Given the description of an element on the screen output the (x, y) to click on. 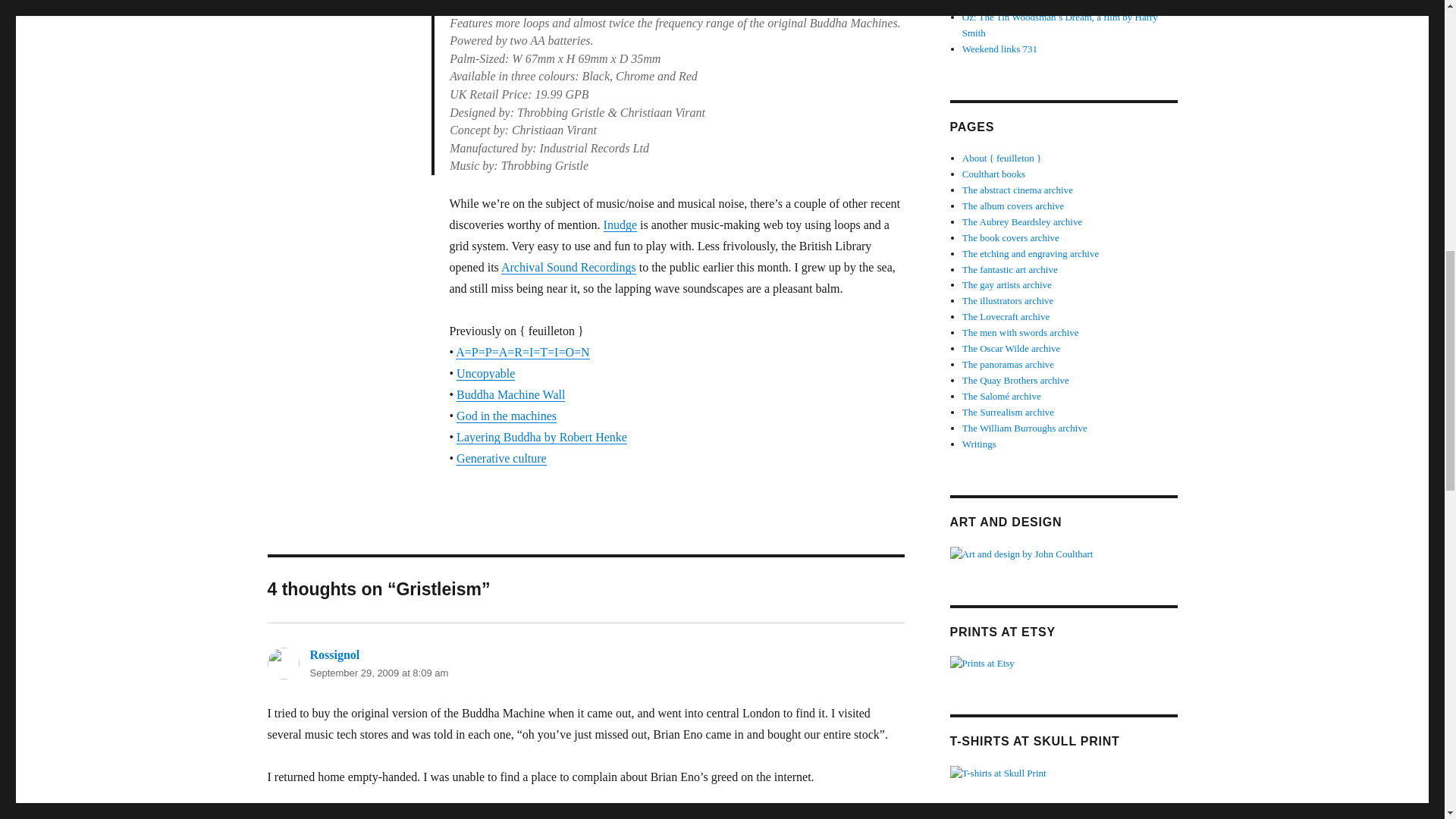
Rossignol (333, 654)
God in the machines (506, 415)
Layering Buddha by Robert Henke (542, 436)
Inudge (620, 224)
Archival Sound Recordings (568, 267)
Buddha Machine Wall (510, 394)
Uncopyable (486, 373)
Generative culture (502, 458)
September 29, 2009 at 8:09 am (378, 672)
